Given the description of an element on the screen output the (x, y) to click on. 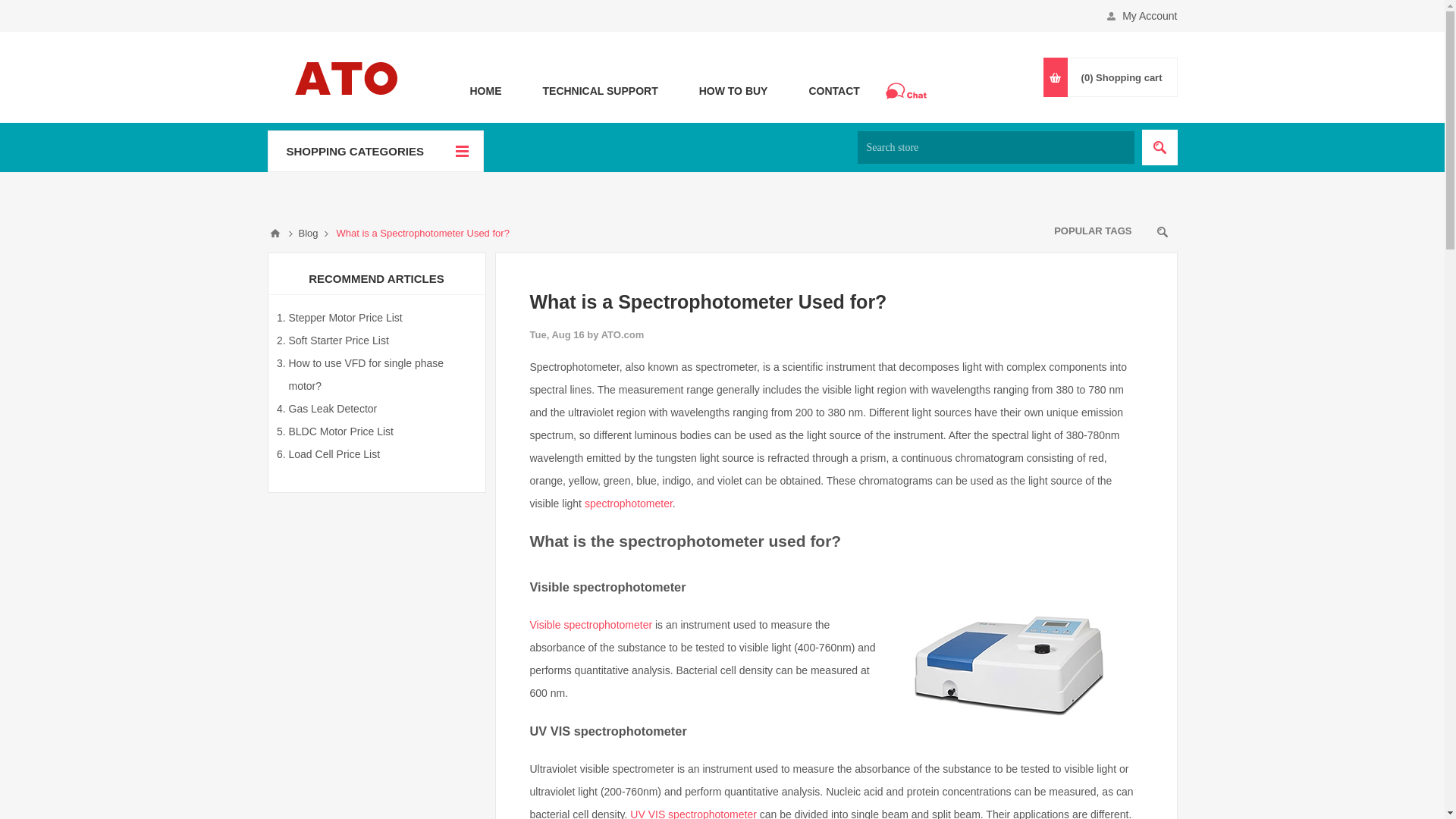
HOME (484, 89)
Search (1159, 147)
Search (1159, 147)
